Given the description of an element on the screen output the (x, y) to click on. 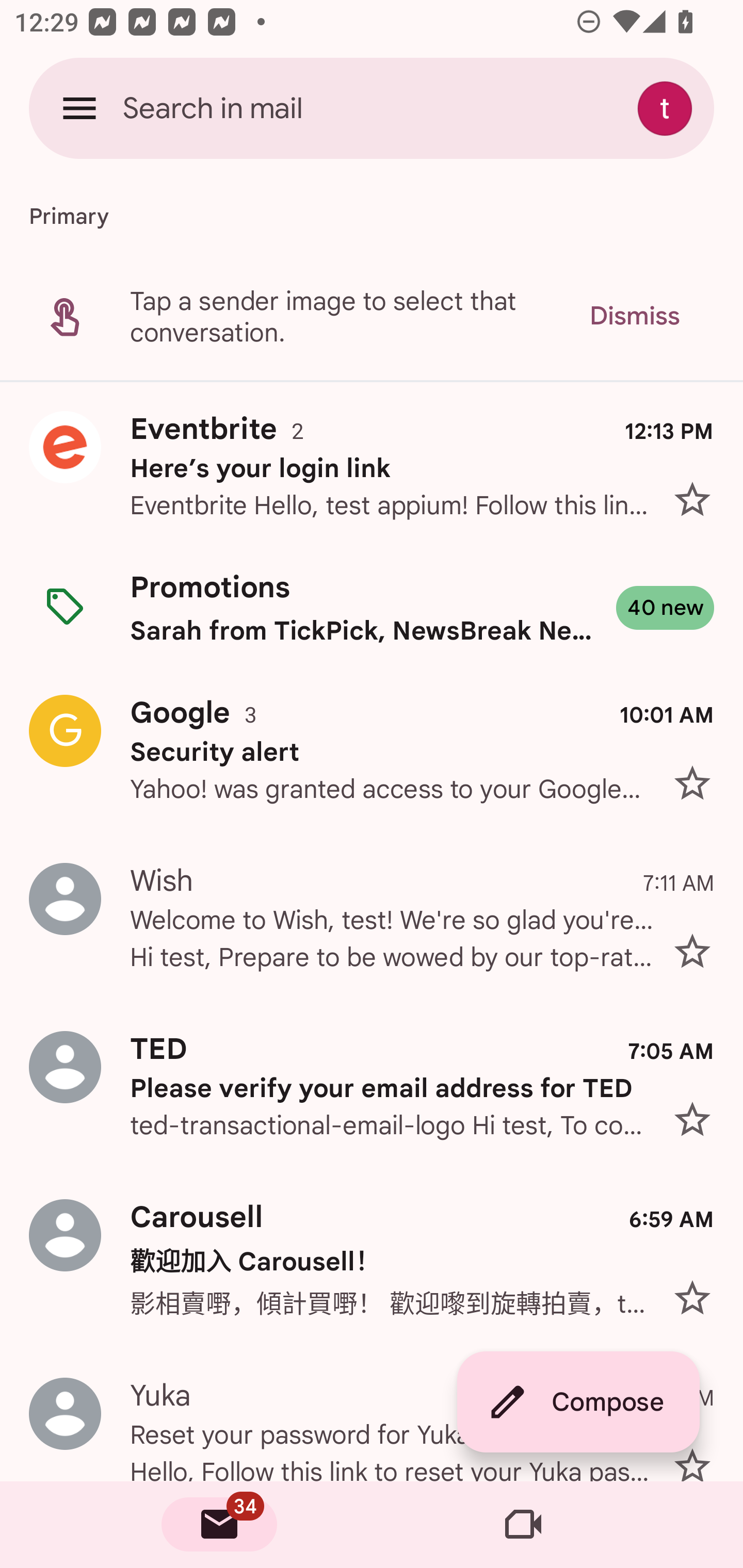
Open navigation drawer (79, 108)
Dismiss Dismiss tip (634, 315)
Compose (577, 1401)
Meet (523, 1524)
